Given the description of an element on the screen output the (x, y) to click on. 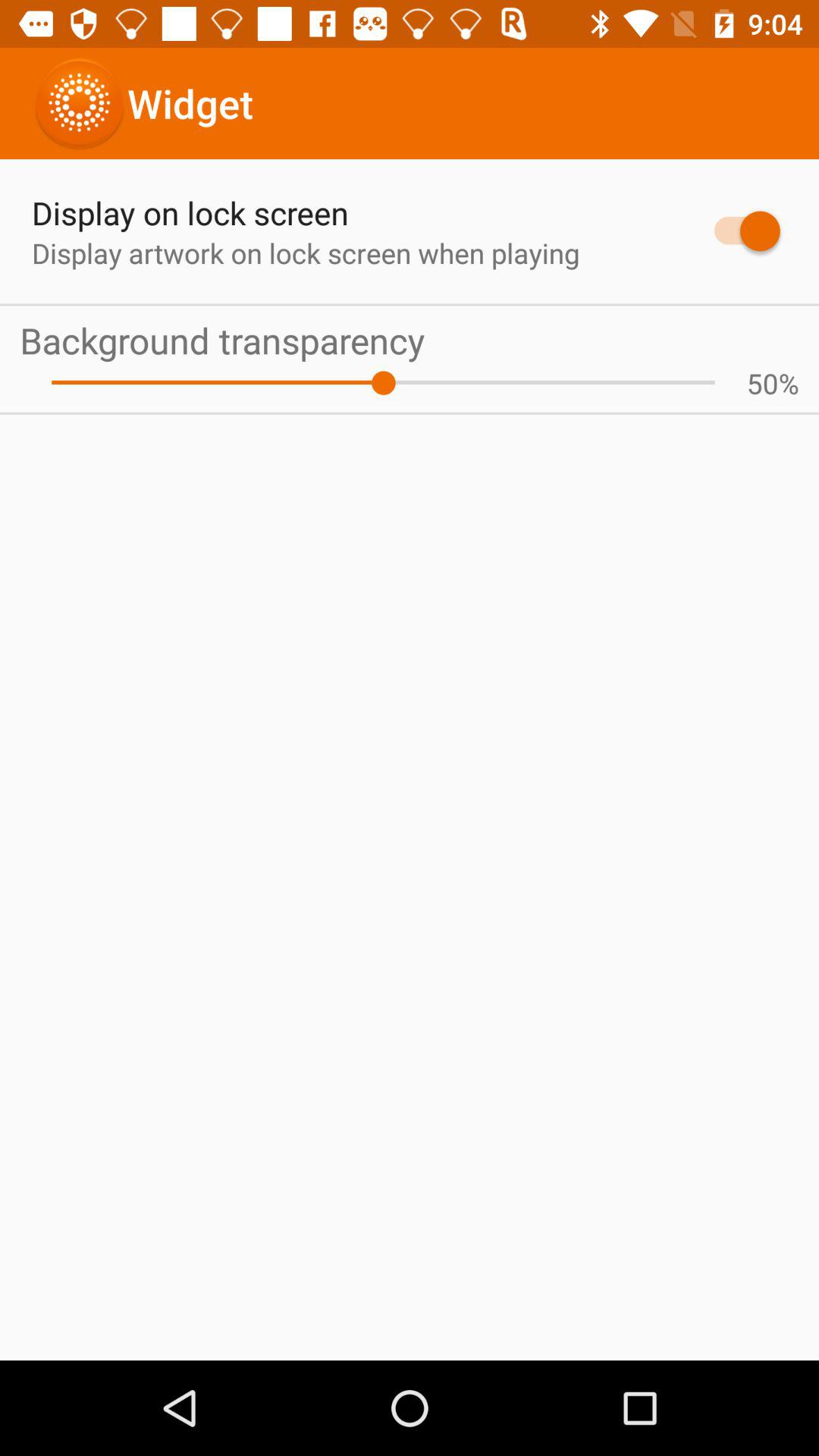
swipe to the background transparency item (409, 340)
